Given the description of an element on the screen output the (x, y) to click on. 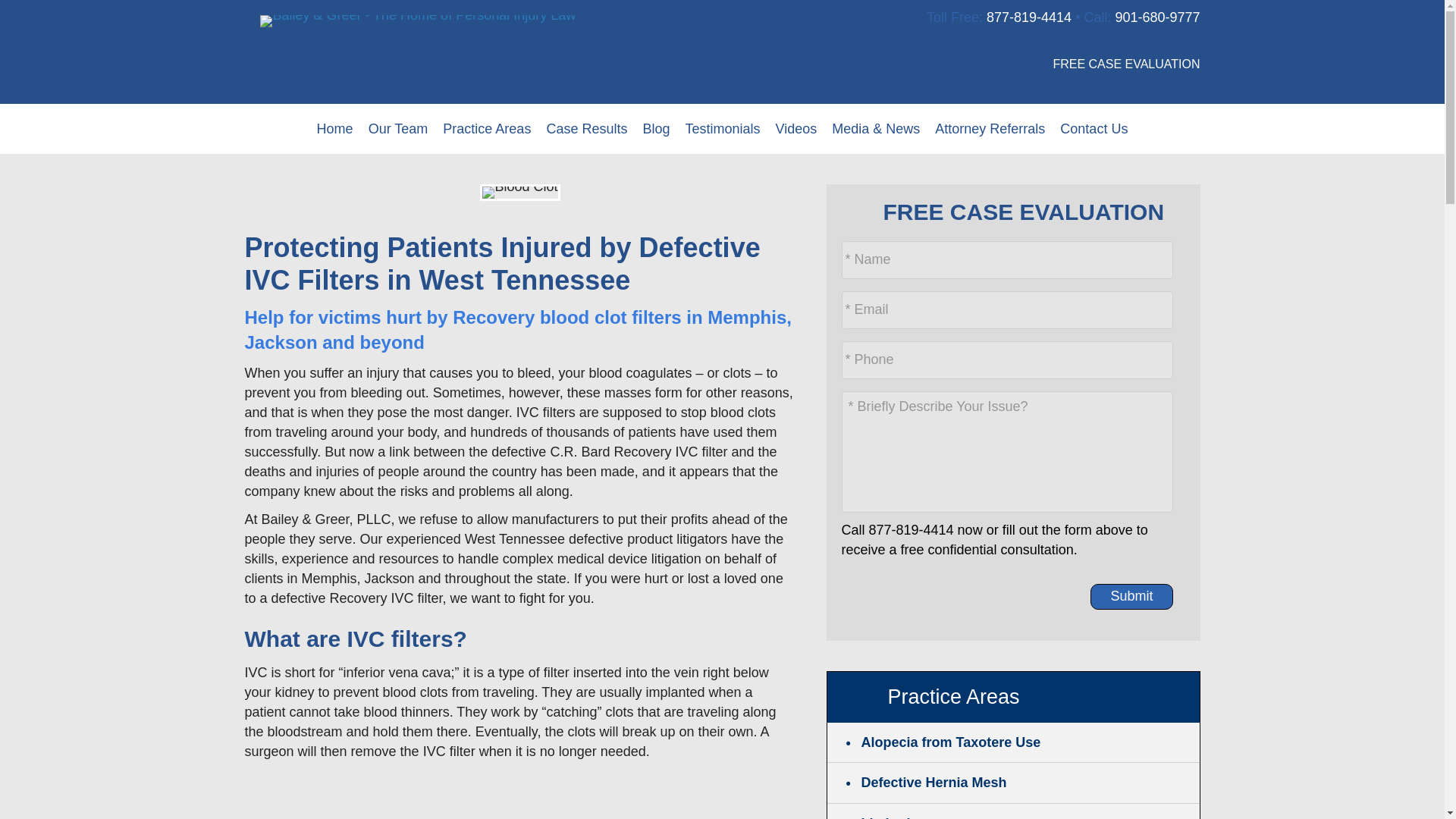
FREE CASE EVALUATION (1104, 78)
Submit (1131, 596)
Practice Areas (486, 128)
Home (334, 128)
Blood Clot (519, 192)
877-819-4414 (1029, 17)
901-680-9777 (1157, 17)
Our Team (398, 128)
